Given the description of an element on the screen output the (x, y) to click on. 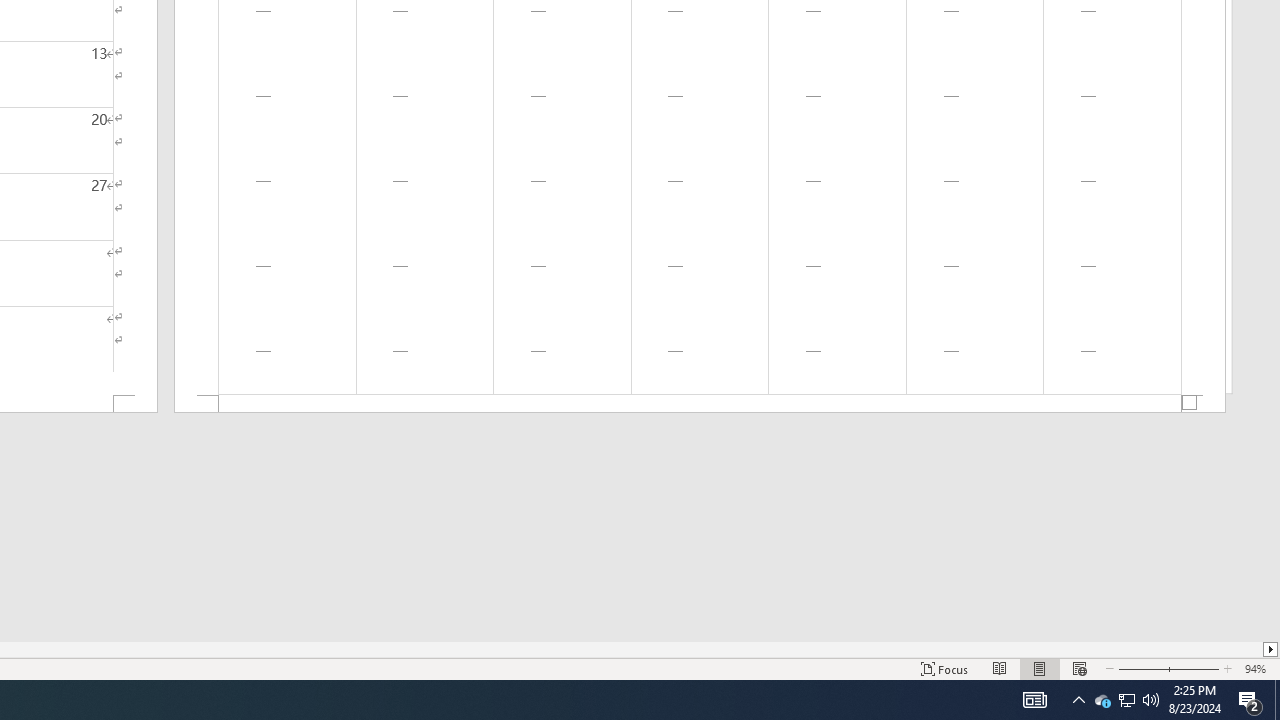
Column right (1271, 649)
